Given the description of an element on the screen output the (x, y) to click on. 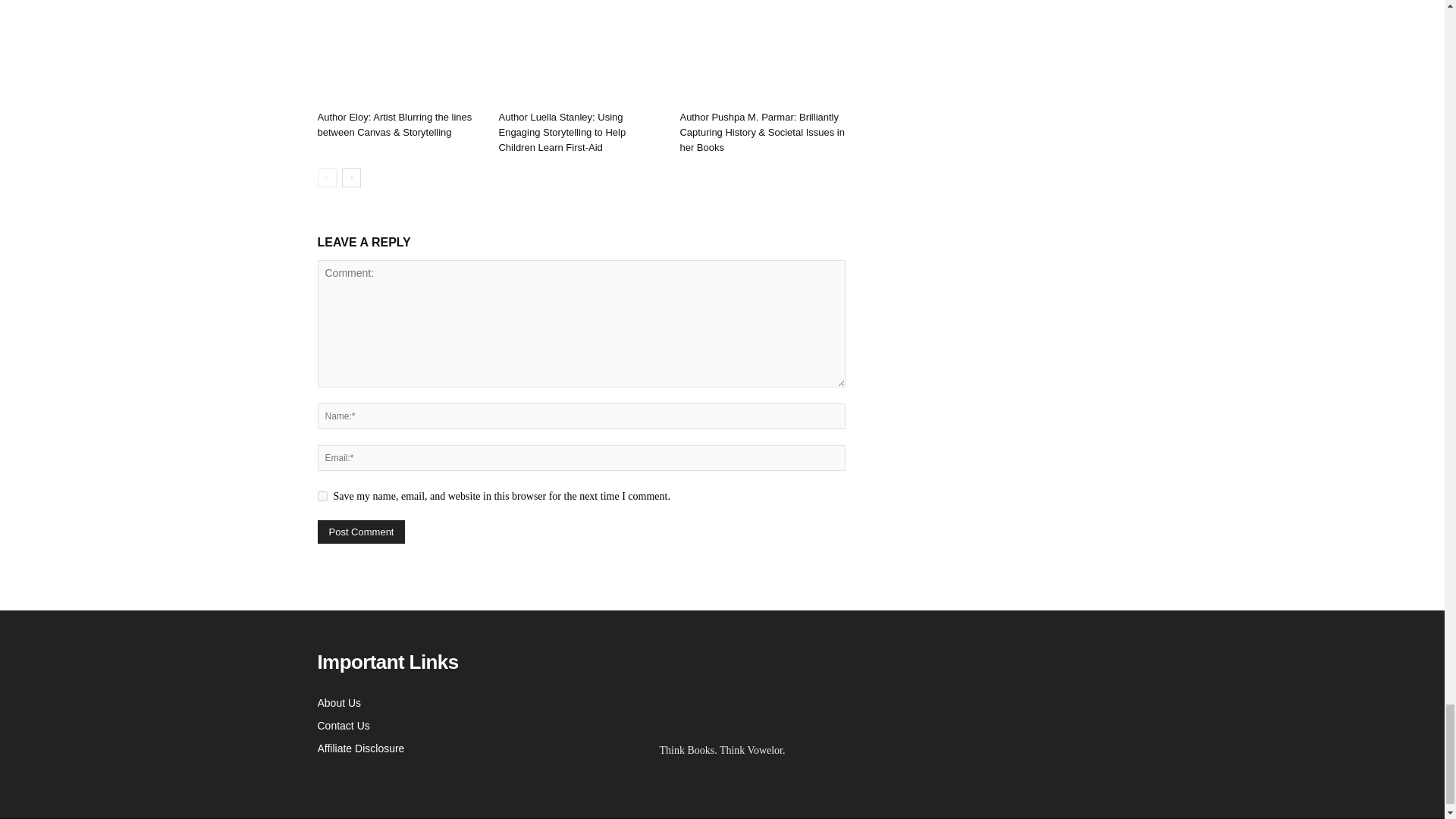
yes (321, 496)
Post Comment (360, 531)
